Given the description of an element on the screen output the (x, y) to click on. 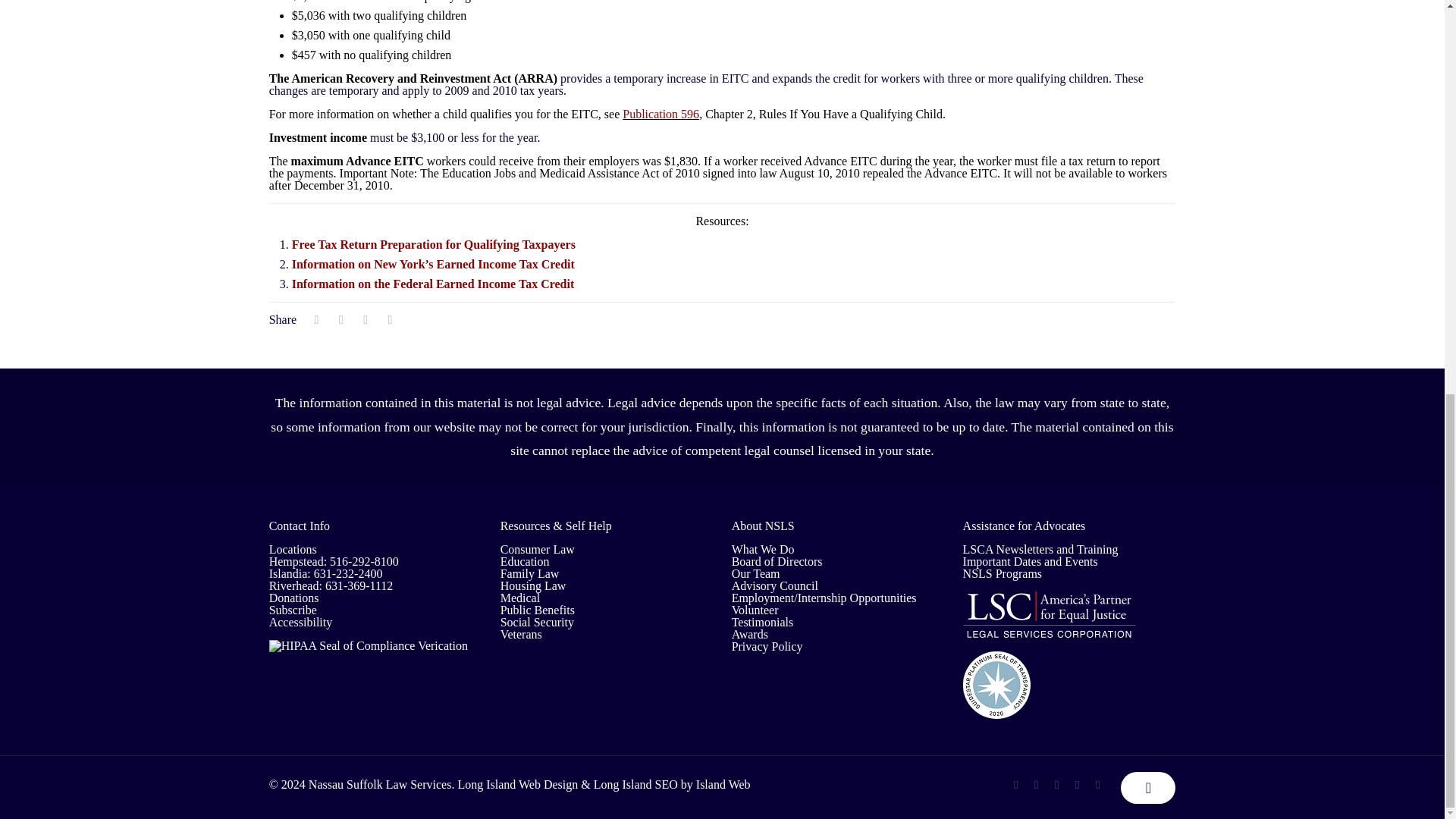
Twitter (1035, 784)
Facebook (1015, 784)
LinkedIn (1076, 784)
YouTube (1056, 784)
Instagram (1097, 784)
